Given the description of an element on the screen output the (x, y) to click on. 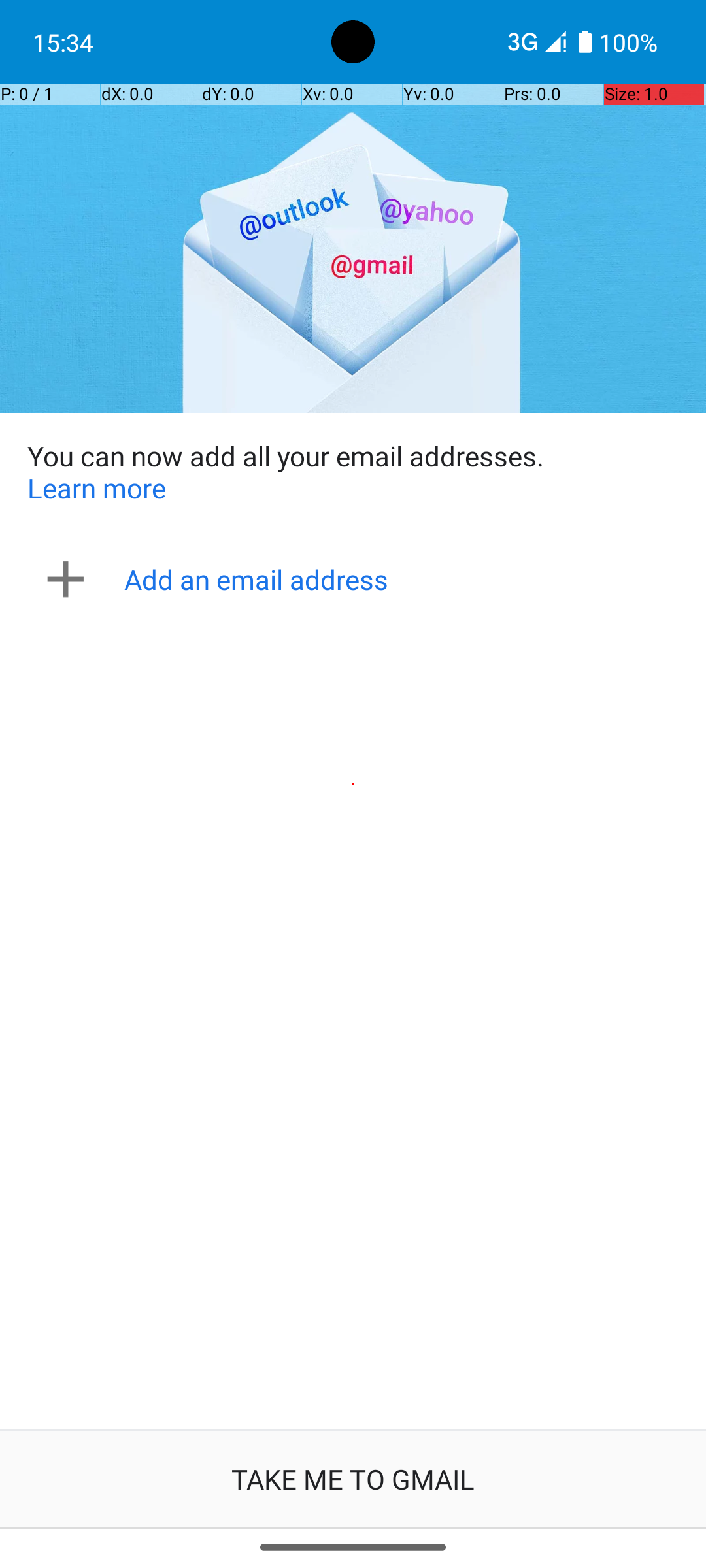
You can now add all your email addresses. Learn more Element type: android.widget.TextView (352, 471)
TAKE ME TO GMAIL Element type: android.widget.TextView (353, 1478)
Add an email address Element type: android.widget.TextView (356, 579)
